Given the description of an element on the screen output the (x, y) to click on. 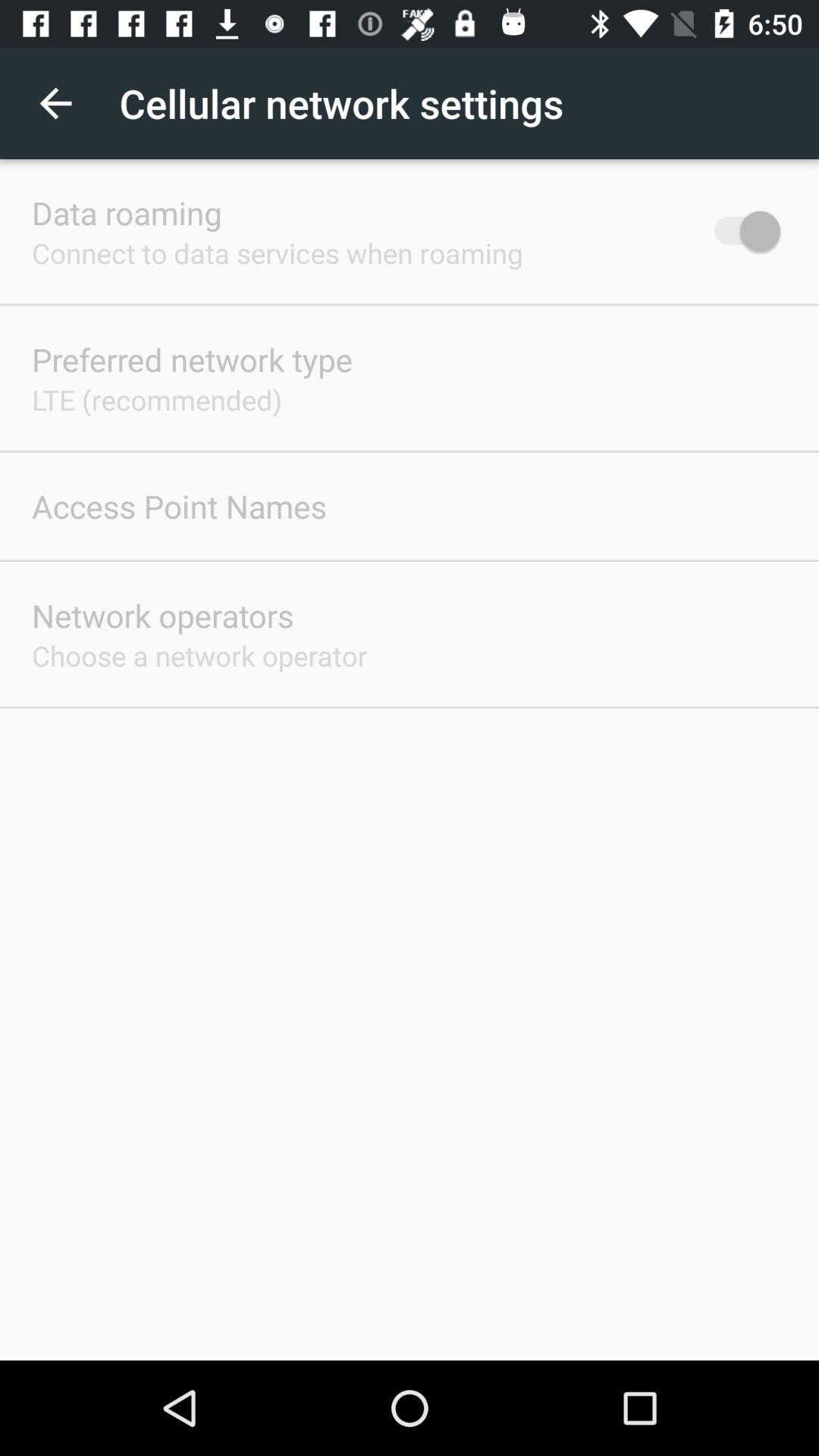
select icon above the choose a network app (162, 615)
